Given the description of an element on the screen output the (x, y) to click on. 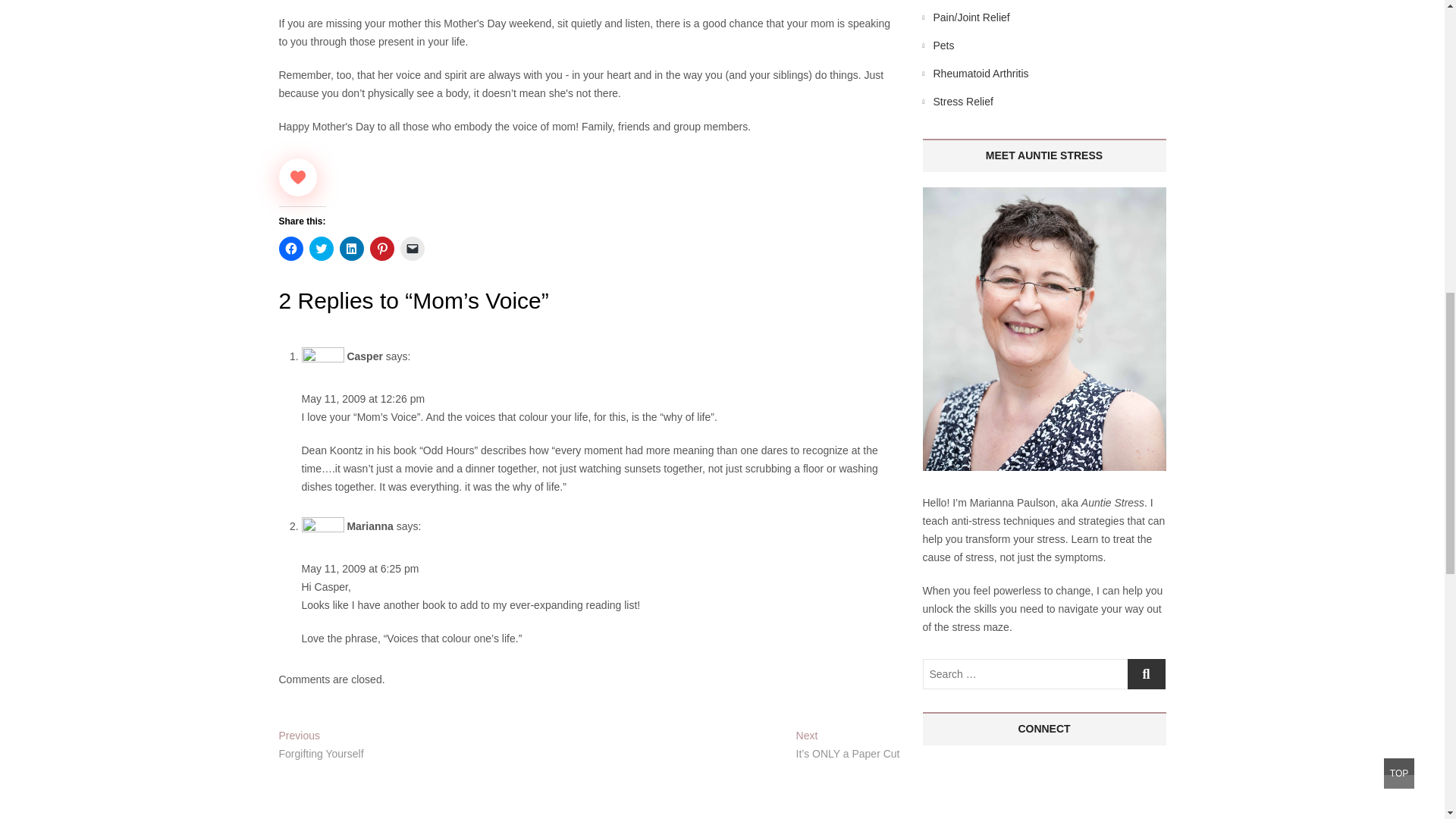
Click to share on LinkedIn (351, 248)
Click to share on Twitter (320, 248)
Click to share on Pinterest (381, 248)
Click to share on Facebook (290, 248)
Click to email a link to a friend (412, 248)
